Given the description of an element on the screen output the (x, y) to click on. 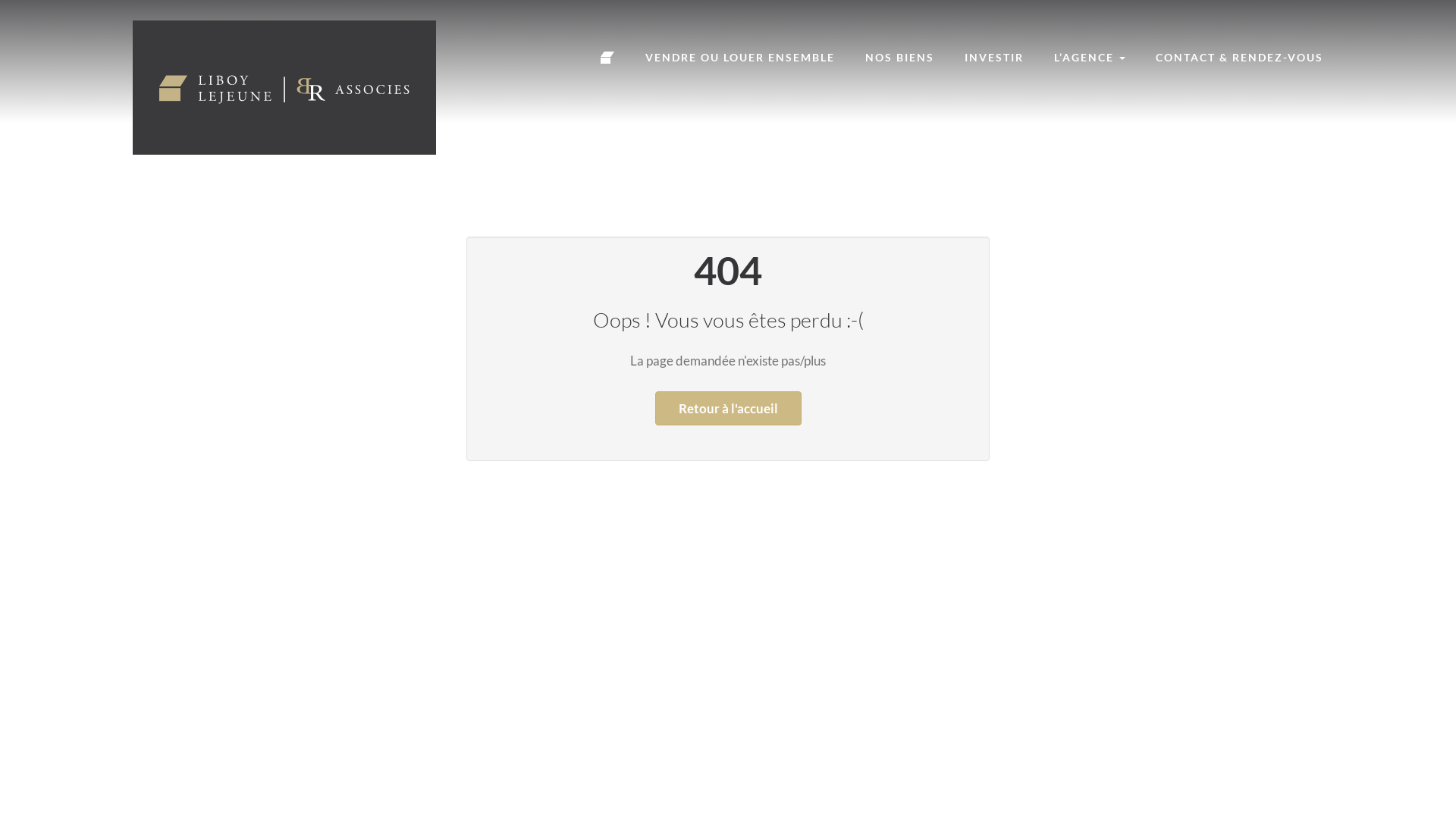
INVESTIR Element type: text (993, 56)
CONTACT & RENDEZ-VOUS Element type: text (1239, 56)
VENDRE OU LOUER ENSEMBLE Element type: text (740, 56)
NOS BIENS Element type: text (899, 56)
